Given the description of an element on the screen output the (x, y) to click on. 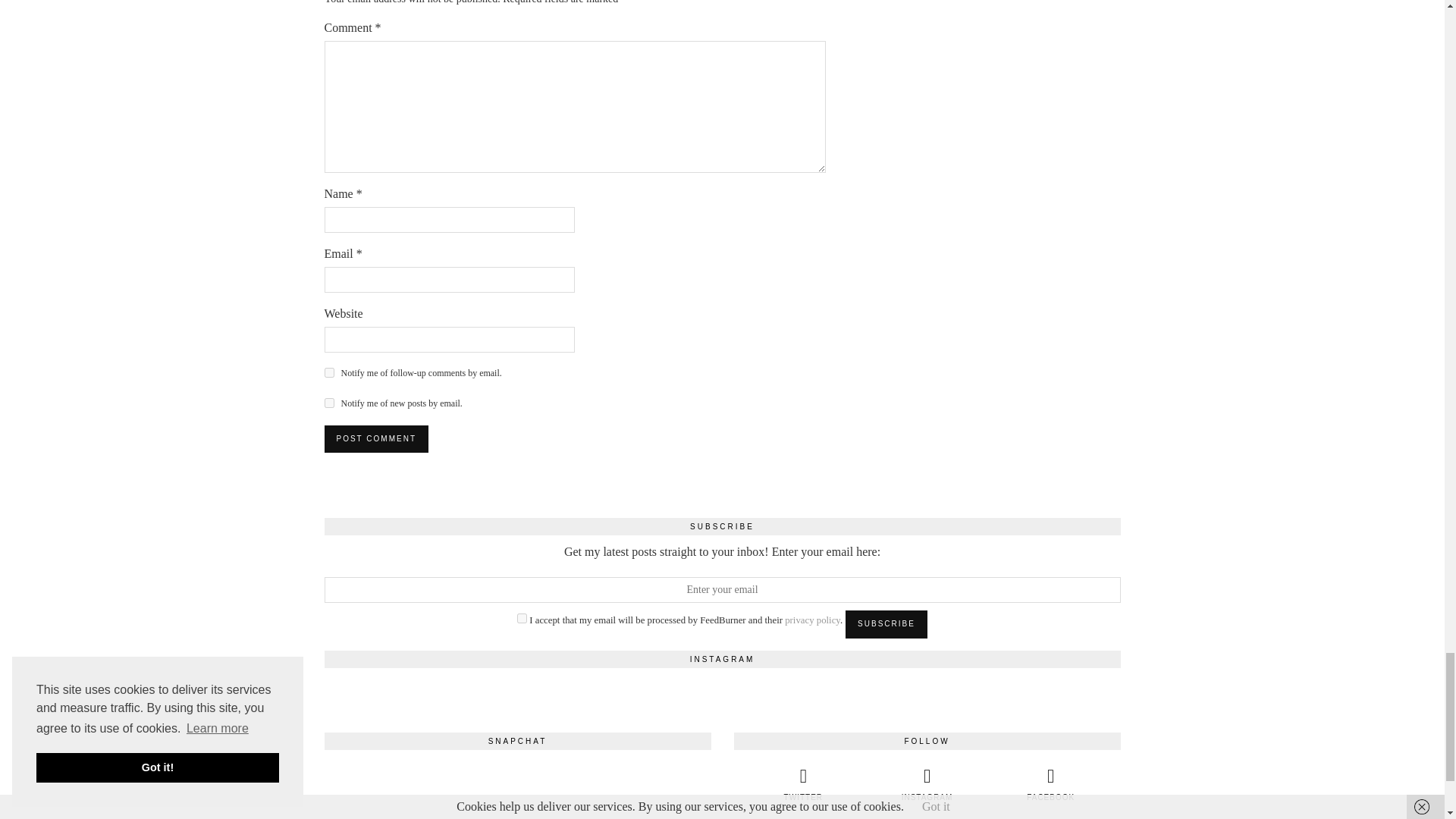
subscribe (329, 372)
subscribe (329, 402)
Subscribe (886, 624)
1 (521, 618)
Post Comment (376, 438)
